Given the description of an element on the screen output the (x, y) to click on. 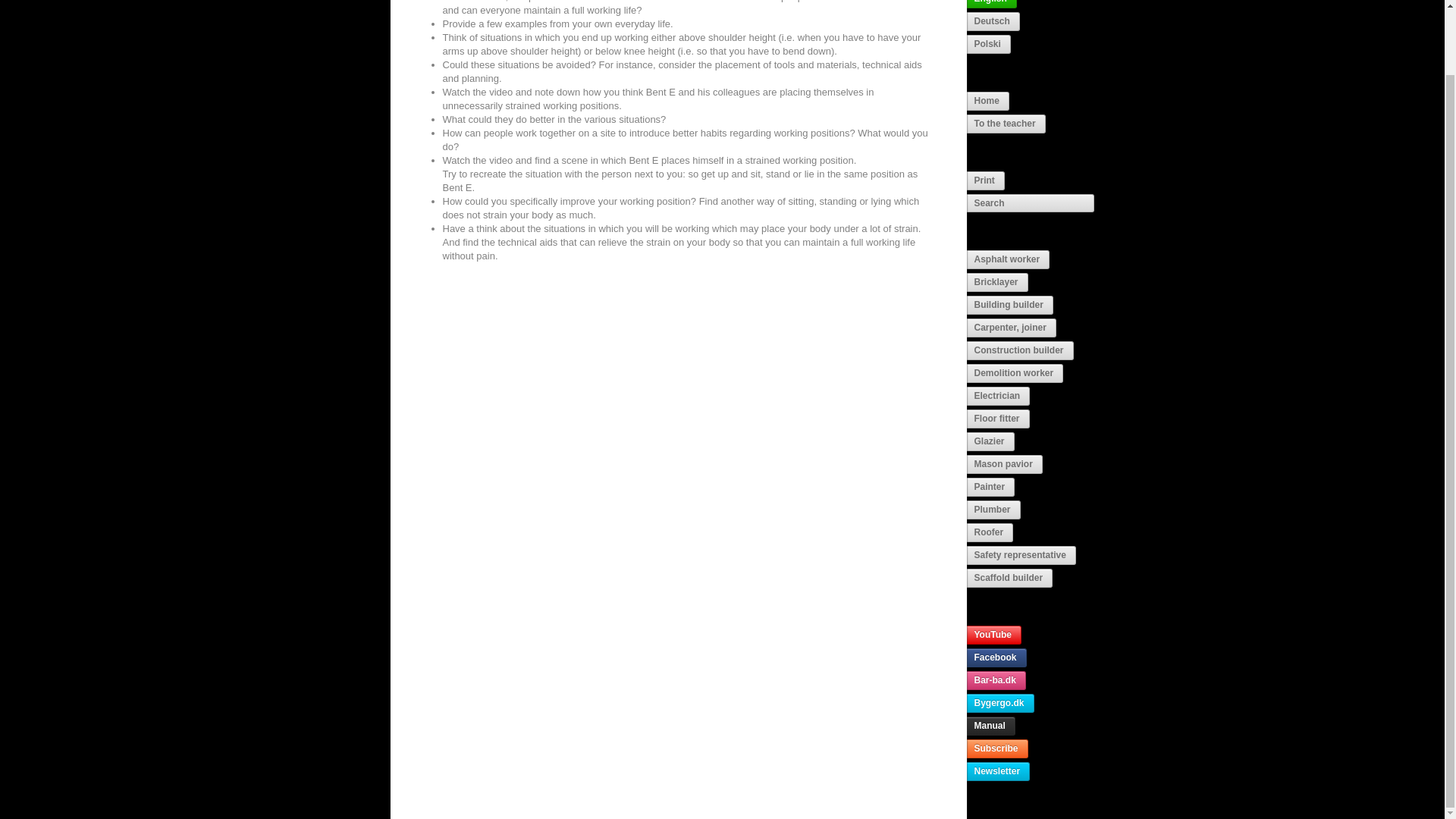
Asphalt worker (1007, 259)
Carpenter, joiner (1010, 327)
Glazier (989, 441)
Deutsch (992, 21)
Print (985, 180)
Construction builder (1019, 350)
Manual (990, 725)
Bygergo.dk (999, 702)
To the teacher (1005, 123)
Newsletter (997, 771)
